Given the description of an element on the screen output the (x, y) to click on. 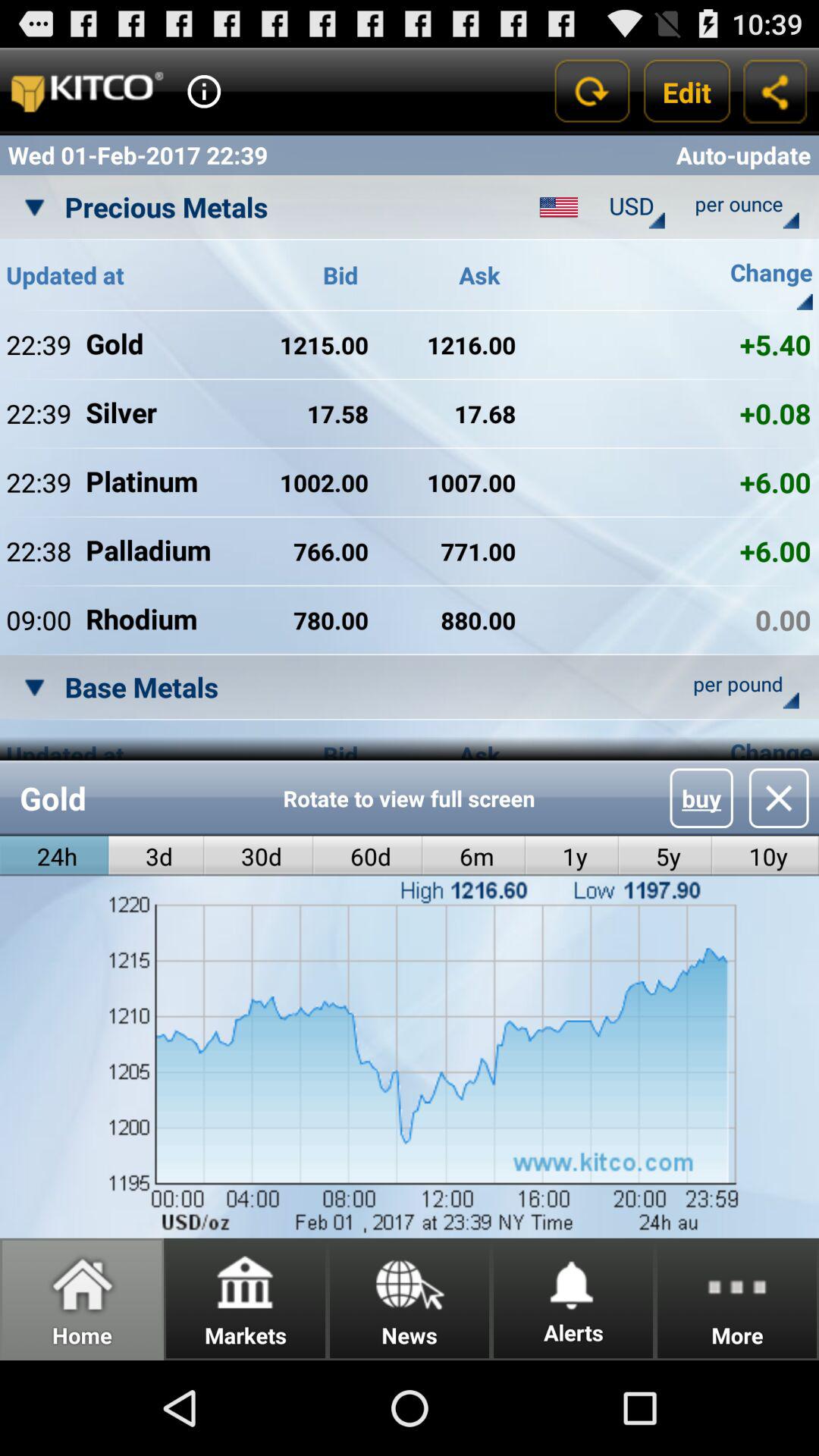
launch the 3d radio button (156, 856)
